Given the description of an element on the screen output the (x, y) to click on. 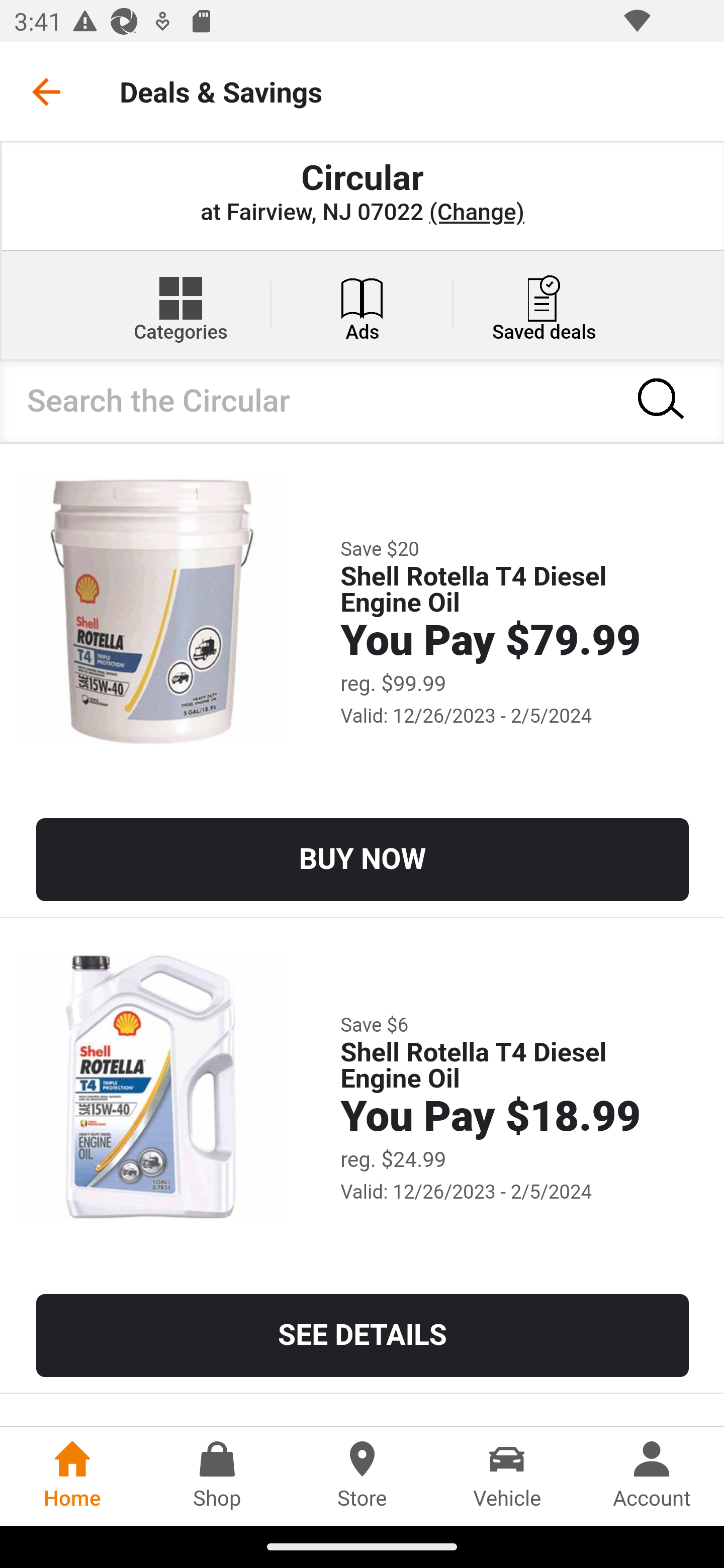
Go back (45, 91)
Home (72, 1475)
Shop (216, 1475)
Store (361, 1475)
Vehicle (506, 1475)
Account (651, 1475)
